Given the description of an element on the screen output the (x, y) to click on. 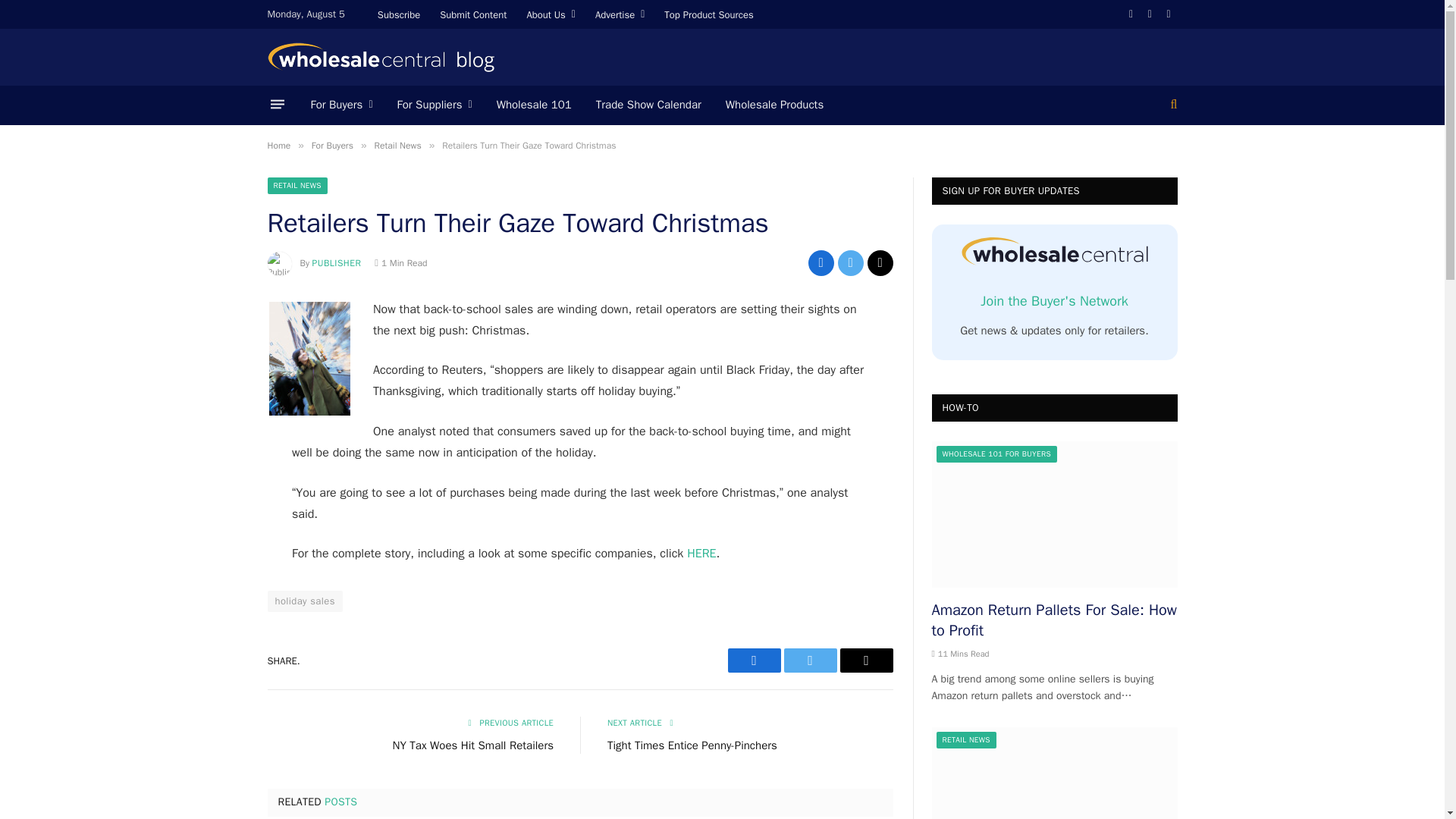
WholesaleCentral.com Blog (380, 57)
About Us (550, 14)
Share on Facebook (821, 263)
For Buyers (341, 103)
Posts by Publisher (337, 263)
Top Product Sources (707, 14)
Advertise (619, 14)
Submit Content (472, 14)
Share on Facebook (754, 660)
Subscribe (398, 14)
Share via Email (866, 660)
Share via Email (880, 263)
